Given the description of an element on the screen output the (x, y) to click on. 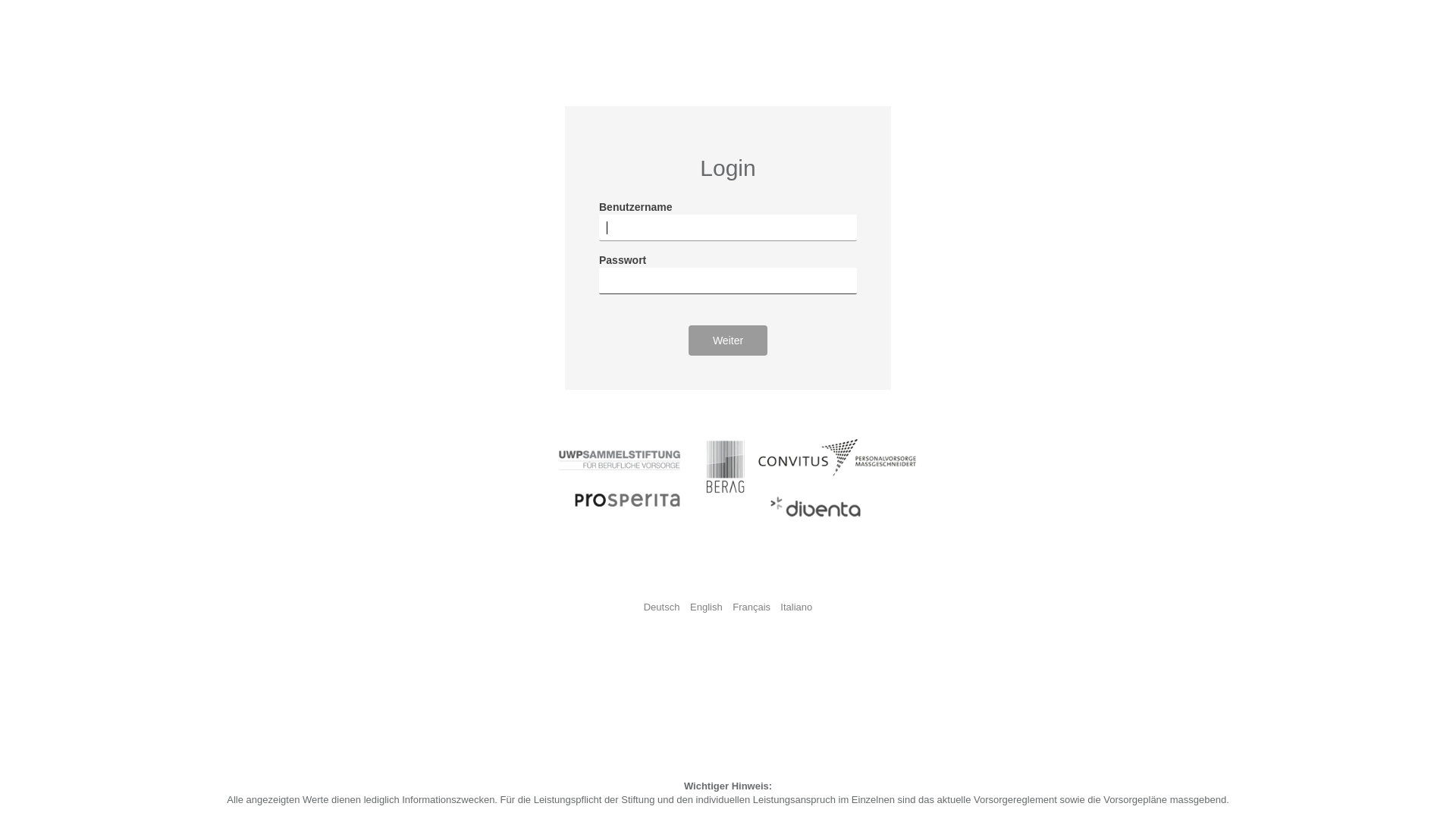
Weiter Element type: text (727, 340)
